Given the description of an element on the screen output the (x, y) to click on. 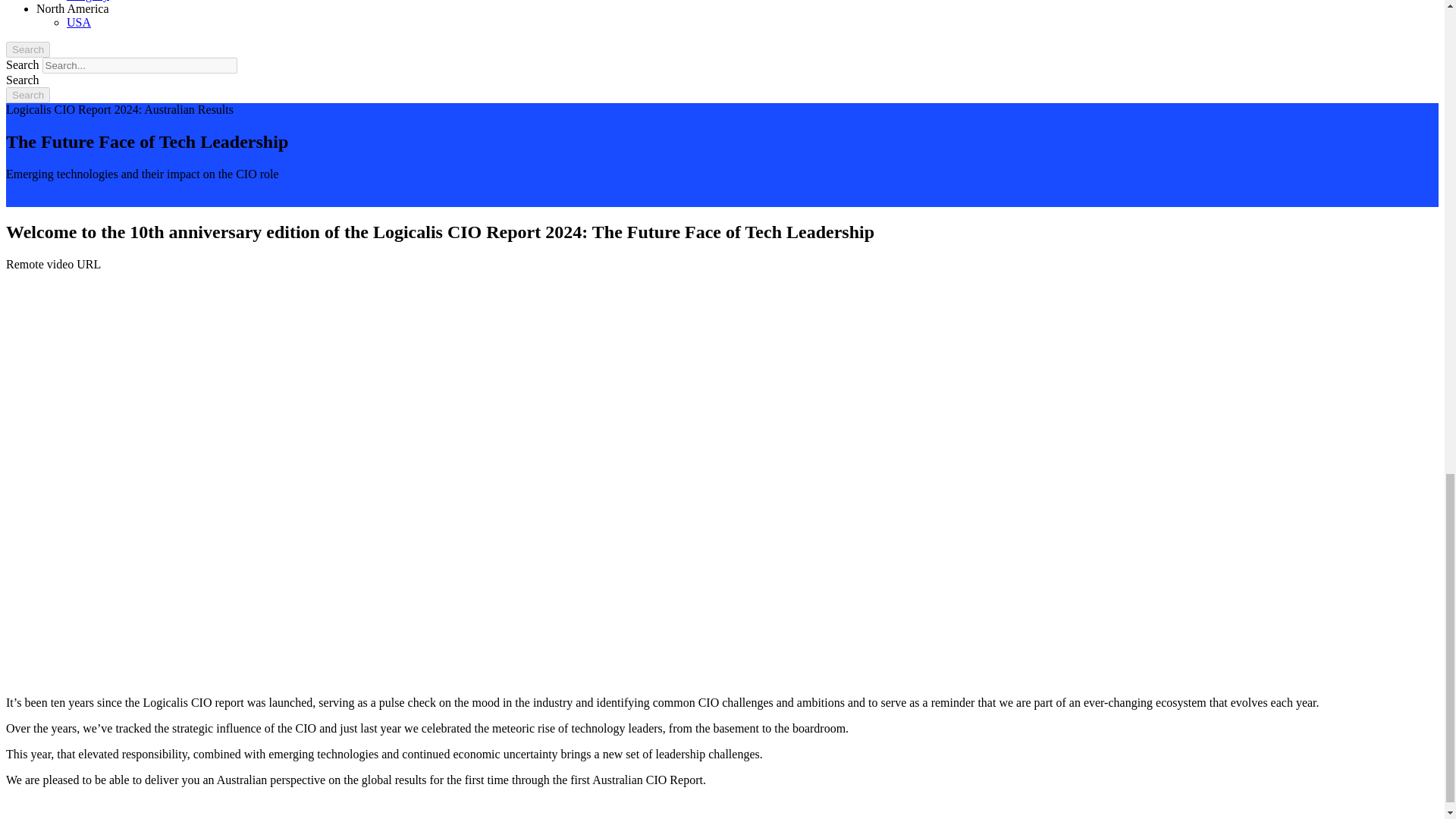
Search (27, 94)
